Given the description of an element on the screen output the (x, y) to click on. 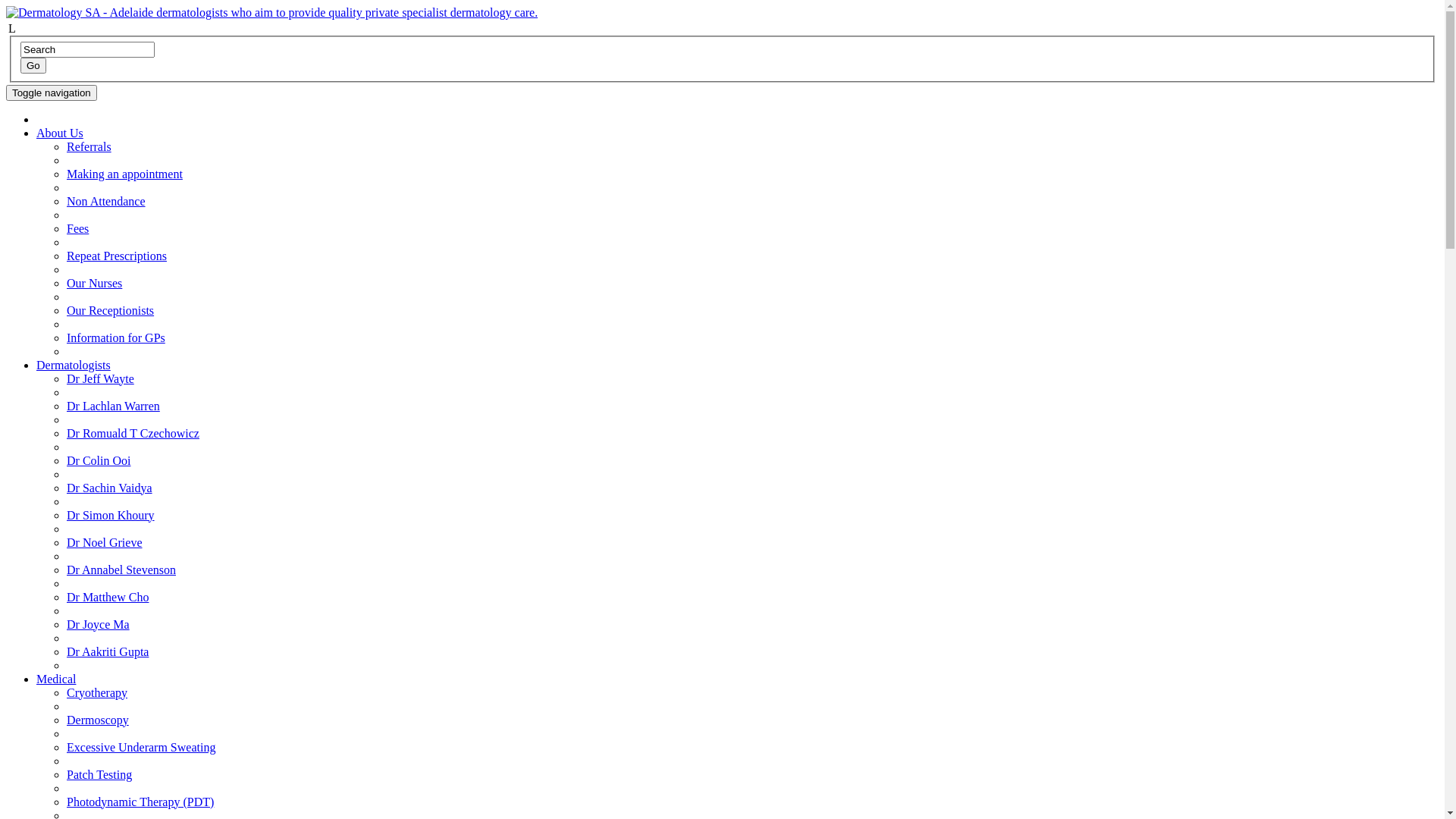
Our Nurses Element type: text (94, 282)
Dermoscopy Element type: text (97, 719)
Excessive Underarm Sweating Element type: text (140, 746)
Making an appointment Element type: text (124, 173)
About Us Element type: text (59, 132)
Go Element type: text (33, 65)
Dr Aakriti Gupta Element type: text (107, 651)
Dr Matthew Cho Element type: text (107, 596)
Referrals Element type: text (88, 146)
Dermatologists Element type: text (73, 364)
Medical Element type: text (55, 678)
Non Attendance Element type: text (105, 200)
Dr Lachlan Warren Element type: text (113, 405)
Dr Annabel Stevenson Element type: text (120, 569)
Toggle navigation Element type: text (51, 92)
Dr Romuald T Czechowicz Element type: text (132, 432)
Dr Joyce Ma Element type: text (97, 624)
Information for GPs Element type: text (115, 337)
Dr Simon Khoury Element type: text (110, 514)
Repeat Prescriptions Element type: text (116, 255)
Dr Colin Ooi Element type: text (98, 460)
Dr Sachin Vaidya Element type: text (109, 487)
Dr Jeff Wayte Element type: text (100, 378)
Our Receptionists Element type: text (109, 310)
Fees Element type: text (77, 228)
Cryotherapy Element type: text (96, 692)
Photodynamic Therapy (PDT) Element type: text (139, 801)
Patch Testing Element type: text (98, 774)
Dr Noel Grieve Element type: text (104, 542)
